Given the description of an element on the screen output the (x, y) to click on. 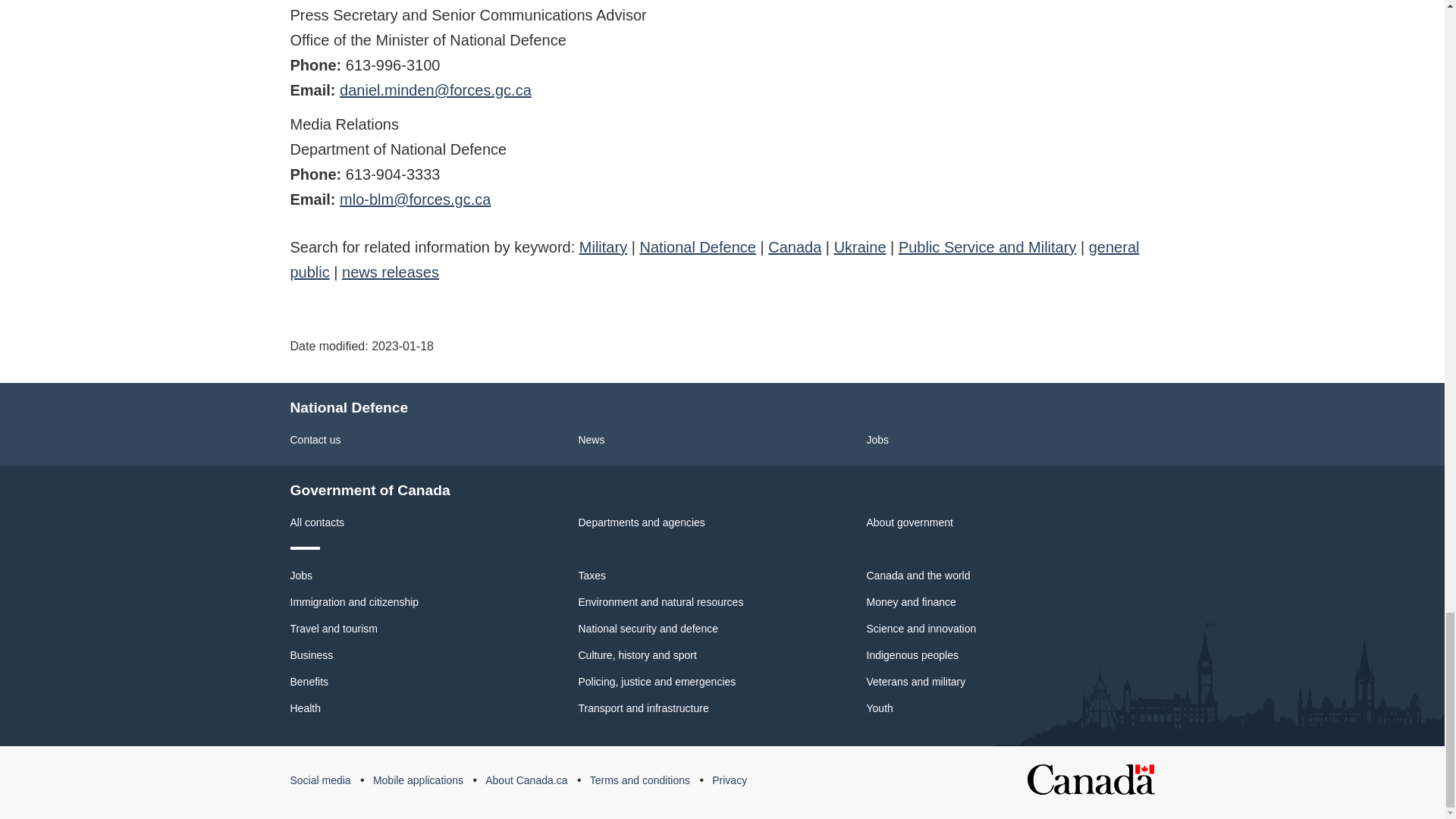
News (591, 439)
Ukraine (860, 247)
general public (713, 259)
National Defence (697, 247)
Public Service and Military (987, 247)
Military (603, 247)
Canada (794, 247)
Contact us (314, 439)
news releases (390, 271)
